Given the description of an element on the screen output the (x, y) to click on. 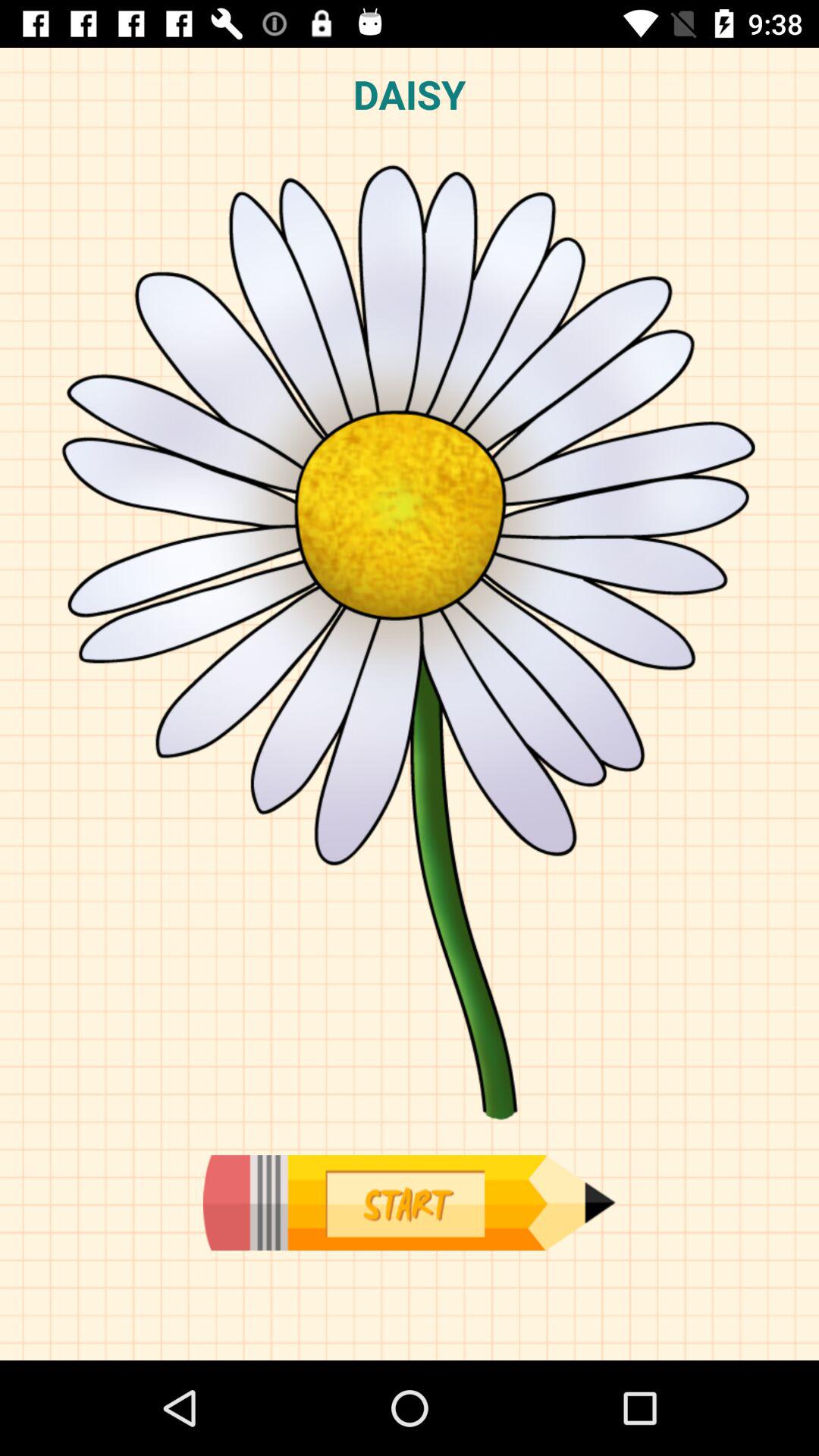
start drawing actvity (409, 1202)
